Given the description of an element on the screen output the (x, y) to click on. 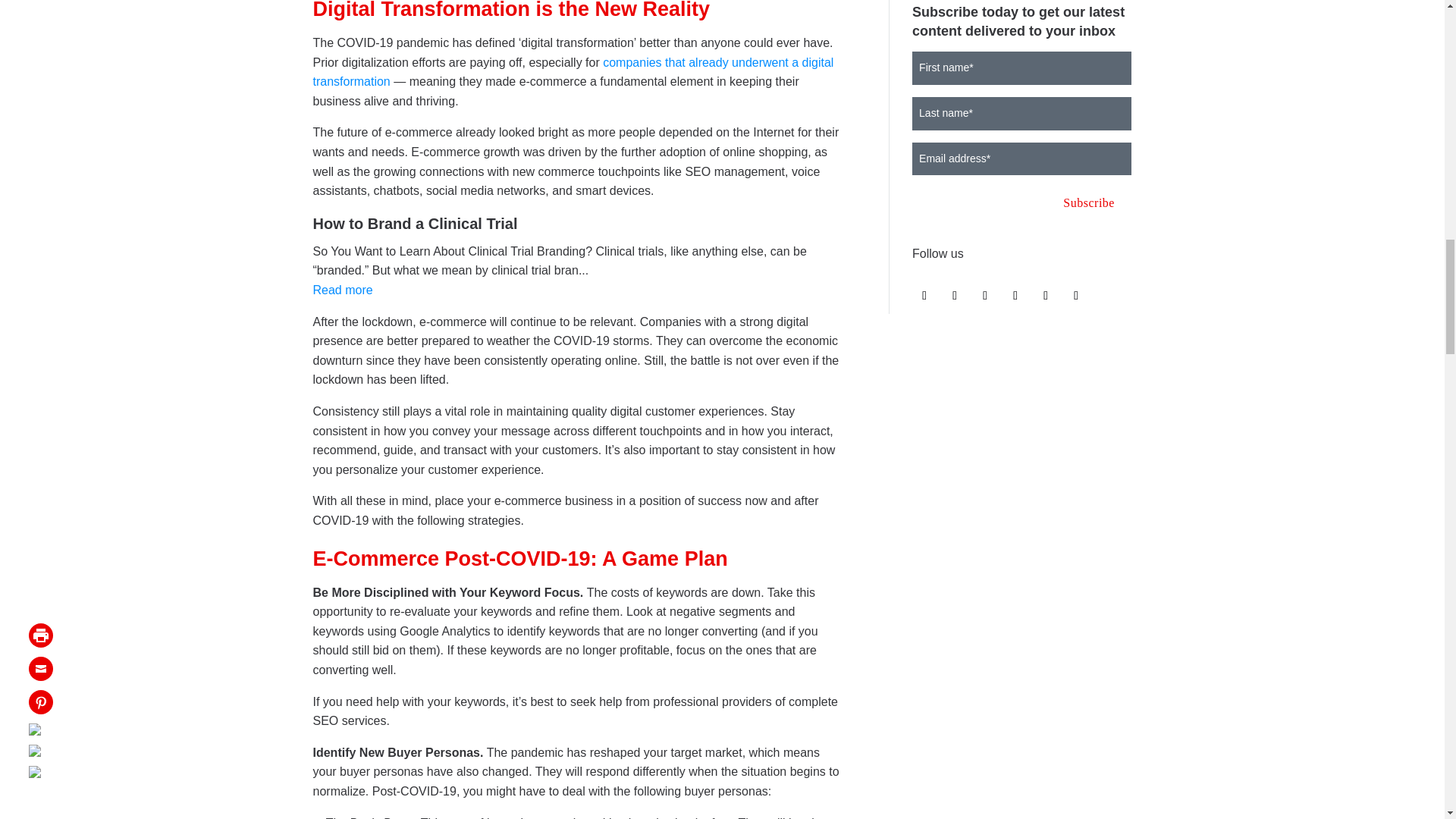
Follow on Facebook (924, 295)
Follow on Instagram (984, 295)
Follow on Pinterest (1075, 295)
Read more (342, 289)
Follow on LinkedIn (1015, 295)
Follow on Youtube (1045, 295)
companies that already underwent a digital transformation (572, 72)
Follow on Twitter (954, 295)
